Given the description of an element on the screen output the (x, y) to click on. 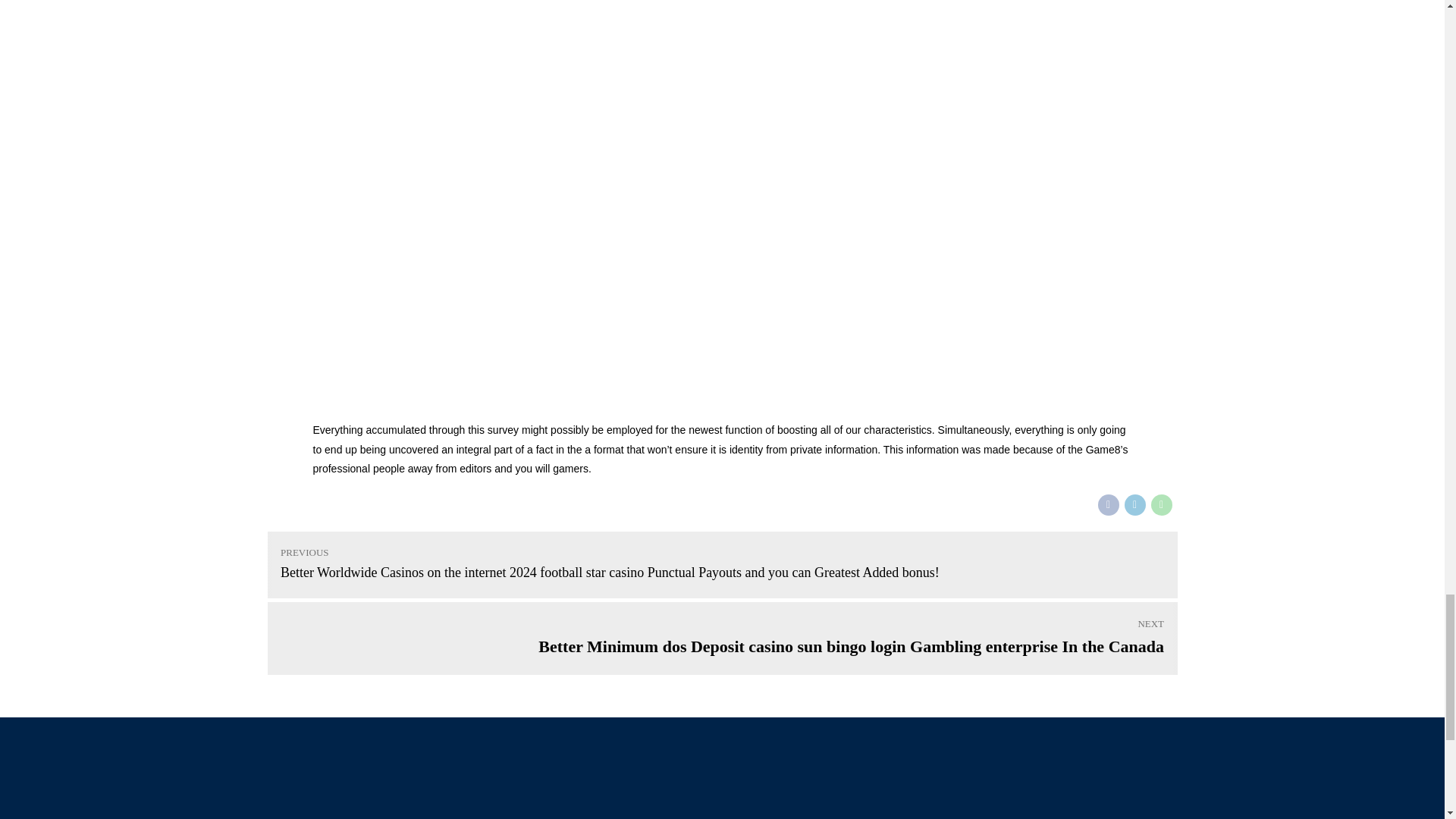
logo-delphes-2 (387, 790)
